Given the description of an element on the screen output the (x, y) to click on. 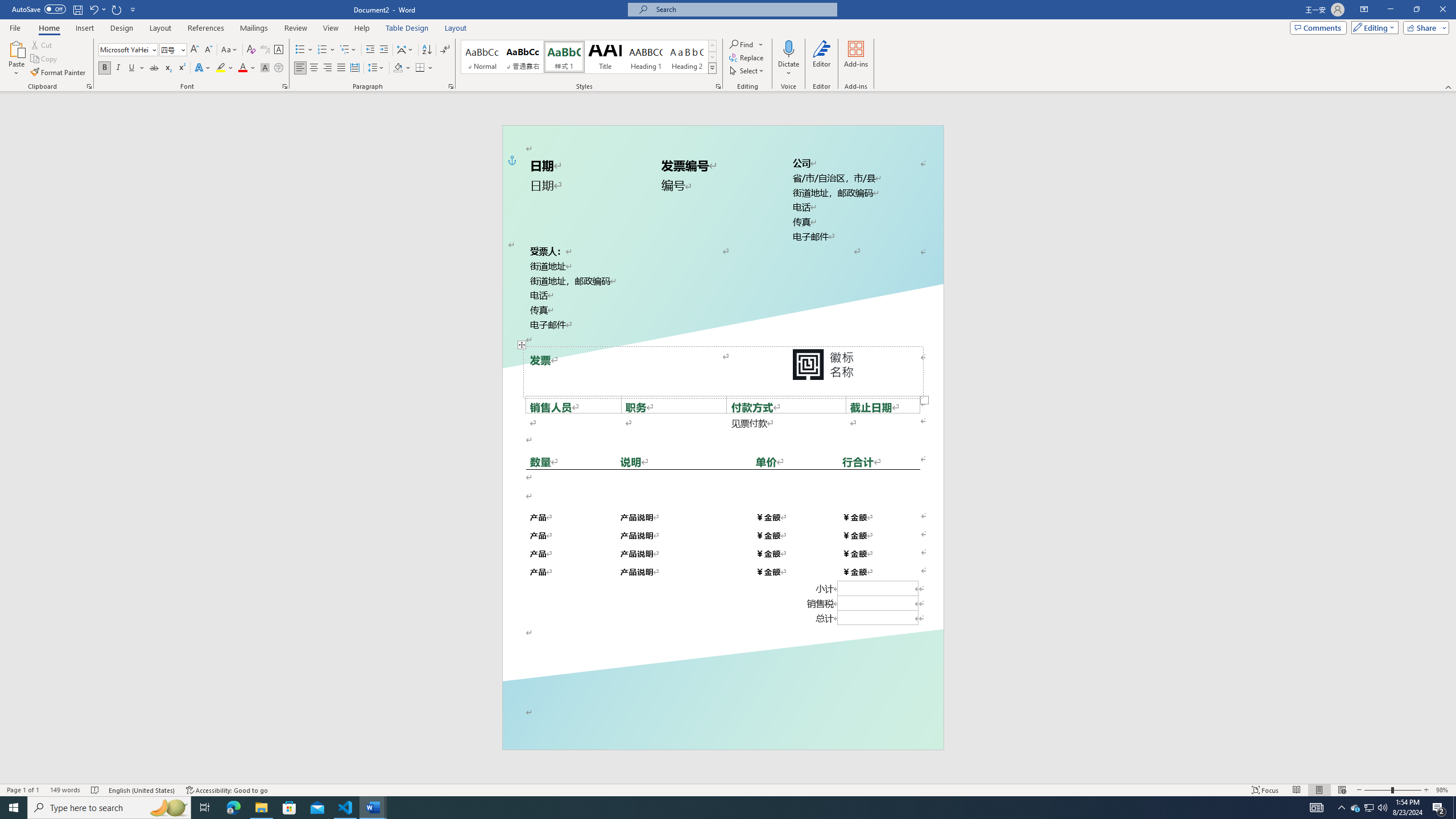
Font Color RGB(255, 0, 0) (241, 67)
